Given the description of an element on the screen output the (x, y) to click on. 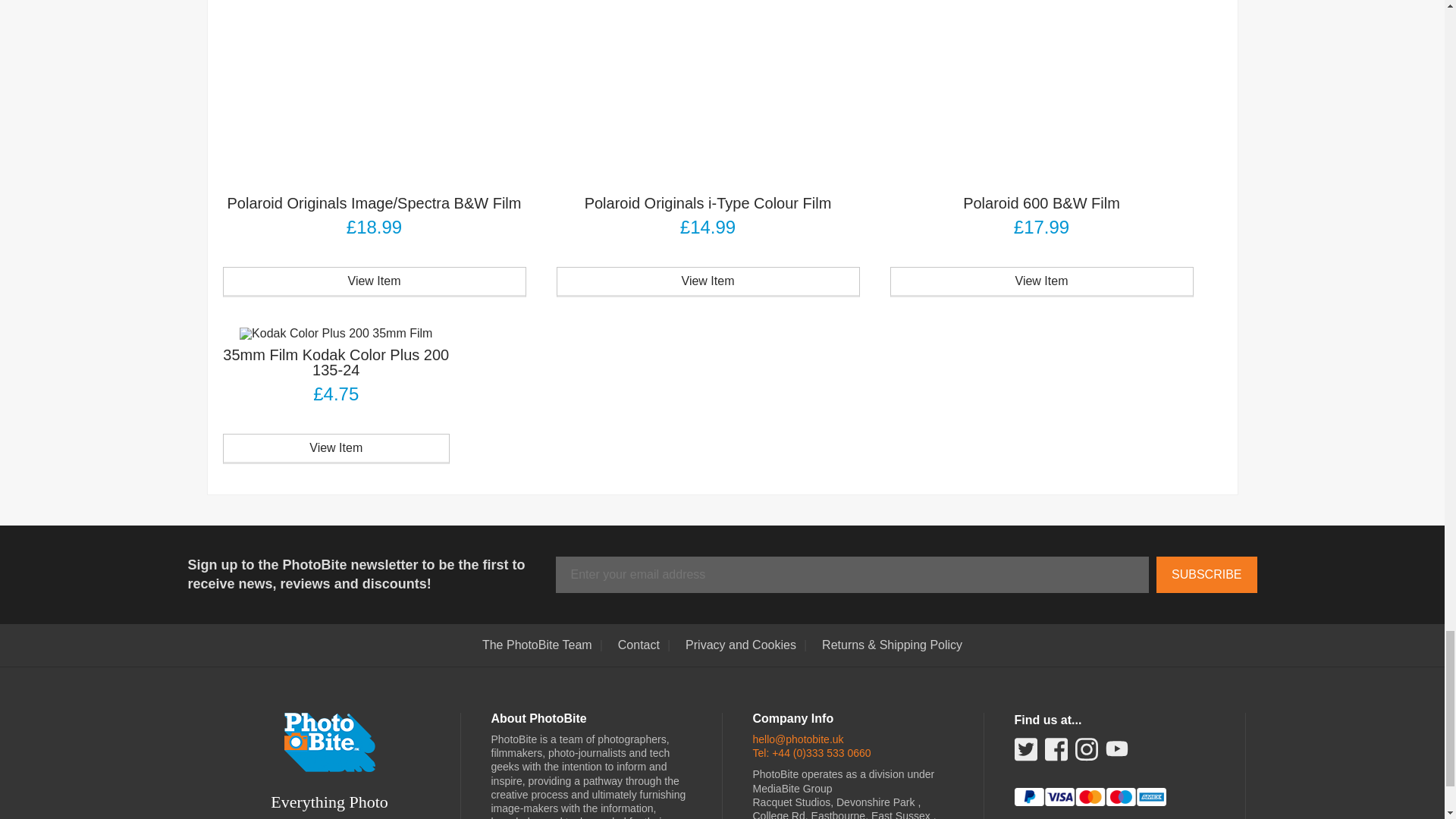
Find us on Instagram (1086, 754)
Find us on Facebook (1056, 754)
Find us on Twitter (1025, 754)
